Given the description of an element on the screen output the (x, y) to click on. 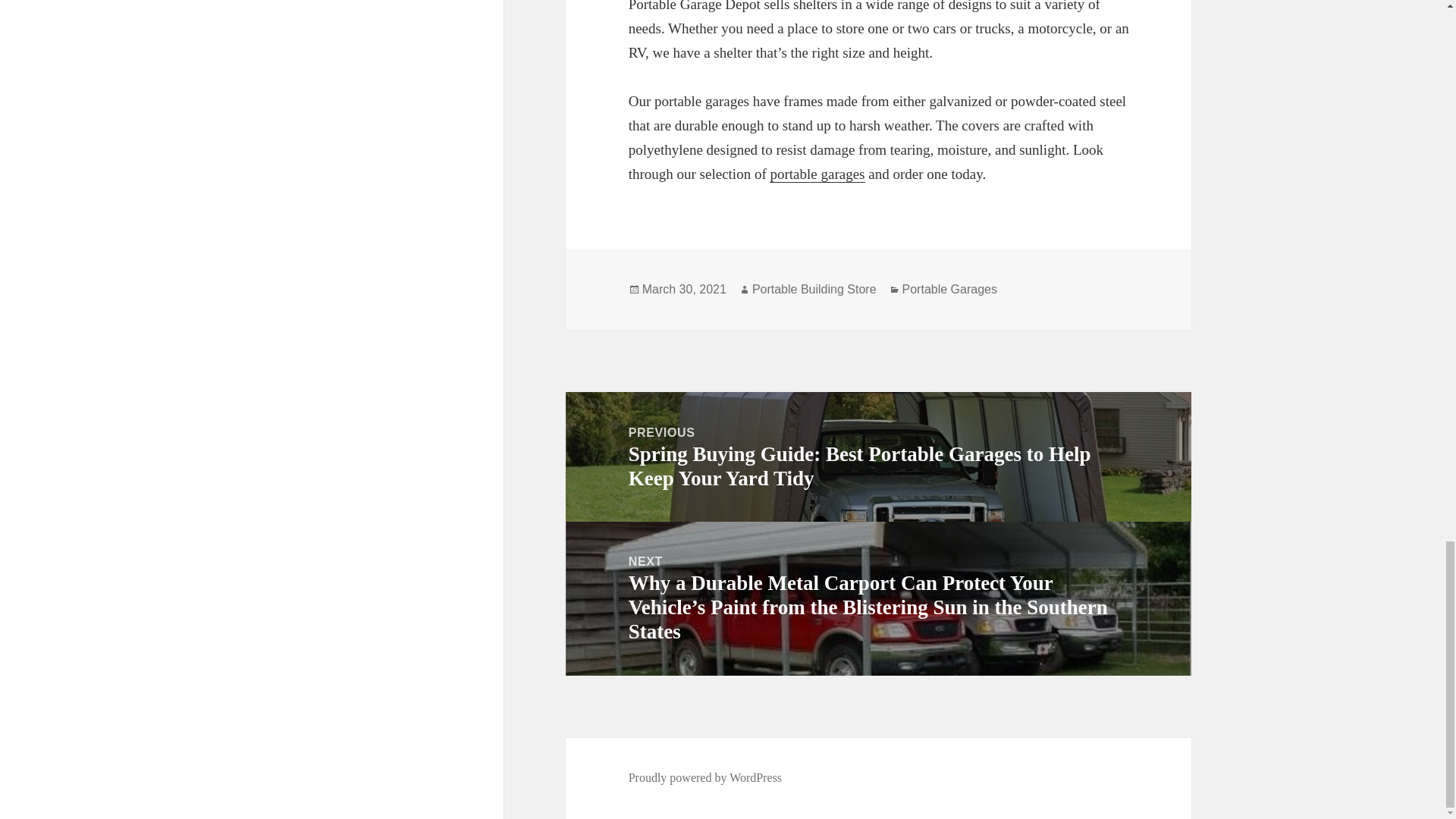
March 30, 2021 (684, 289)
Proudly powered by WordPress (704, 777)
Portable Building Store (814, 289)
Portable Garages (949, 289)
portable garages (817, 174)
